Given the description of an element on the screen output the (x, y) to click on. 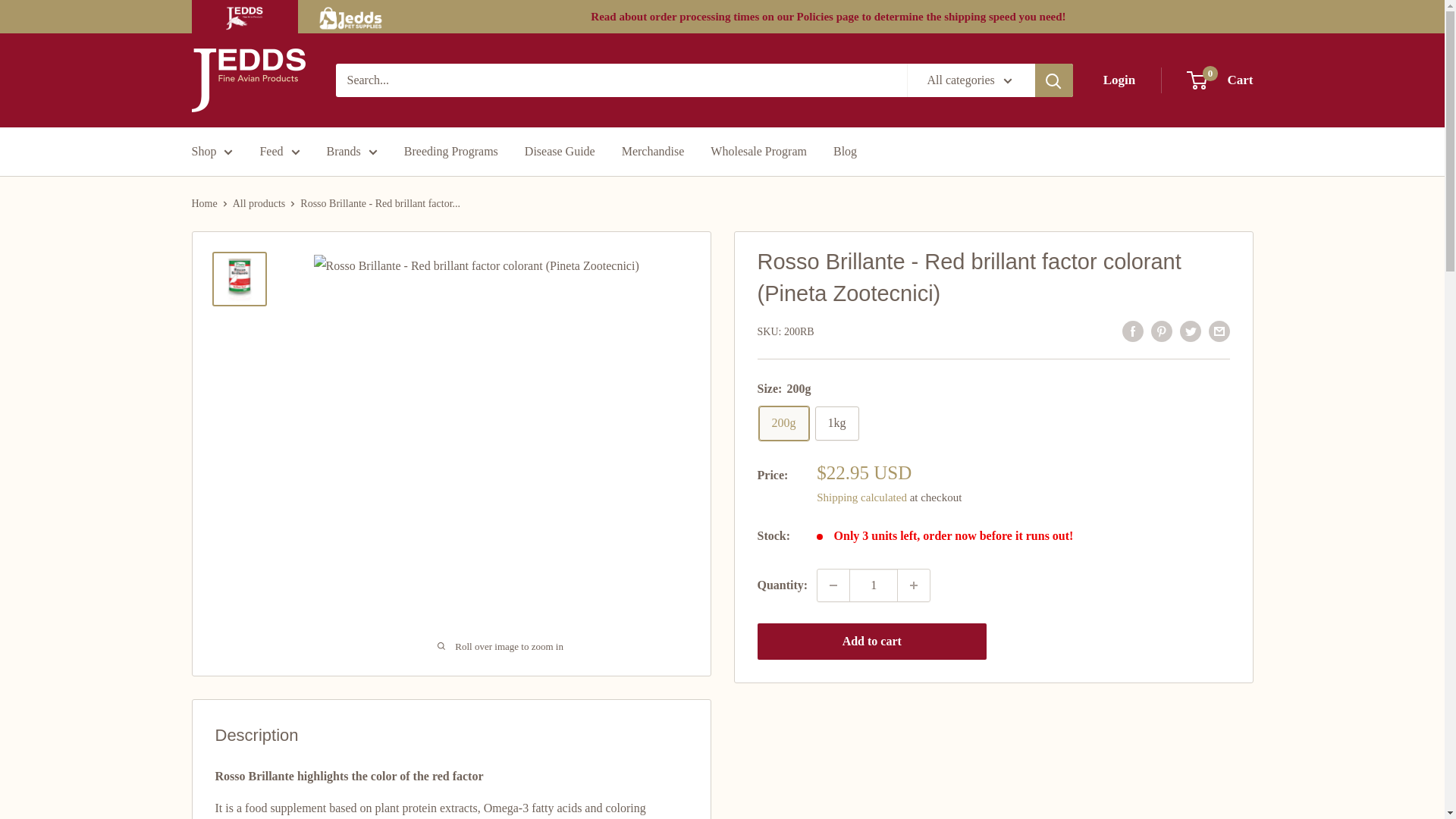
200g (783, 423)
Increase quantity by 1 (914, 585)
1 (873, 585)
Decrease quantity by 1 (832, 585)
1kg (836, 423)
